Given the description of an element on the screen output the (x, y) to click on. 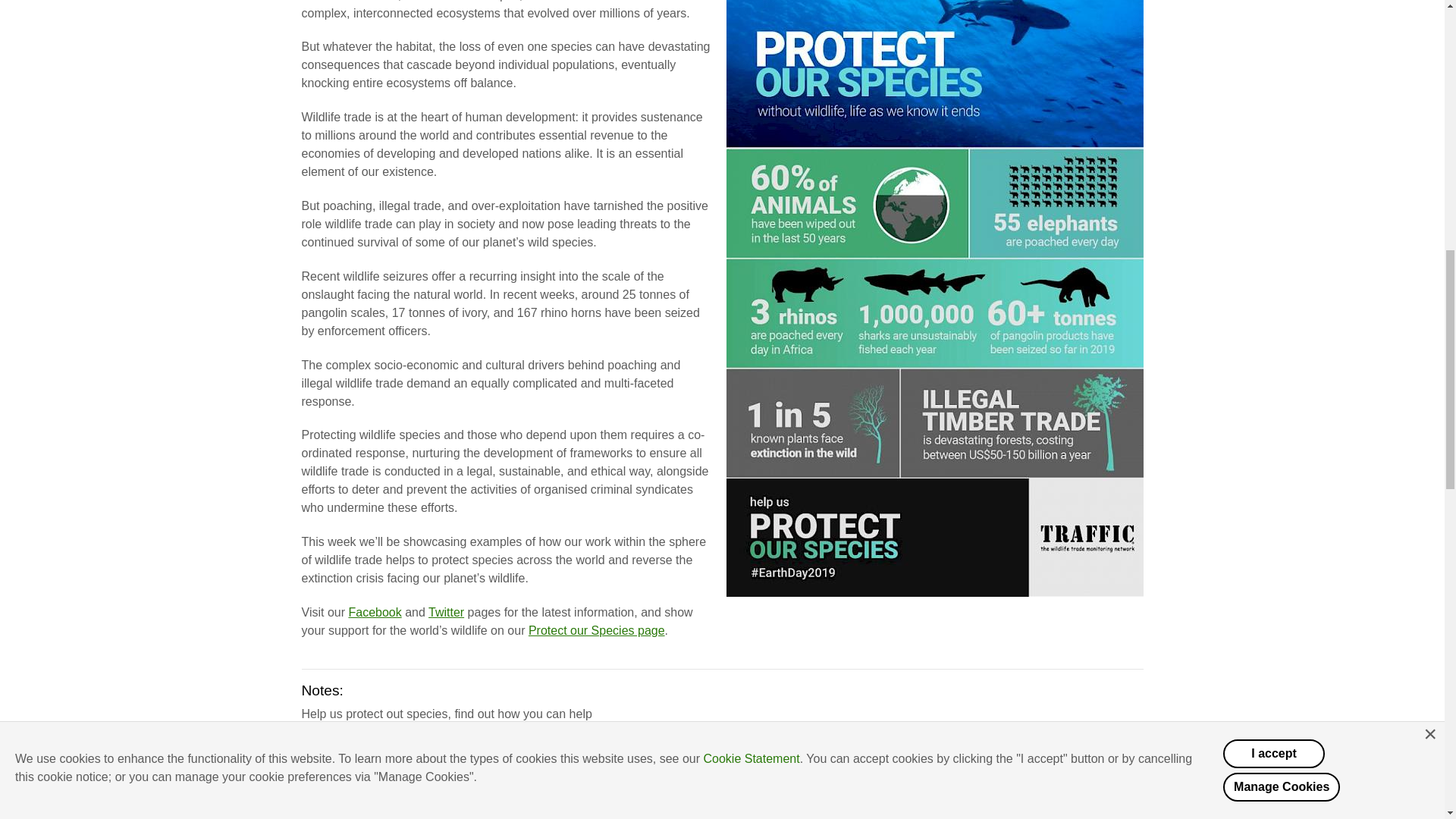
Protect our Species page (596, 630)
stand up for wildlife (386, 756)
Twitter (446, 612)
Facebook (374, 612)
